Given the description of an element on the screen output the (x, y) to click on. 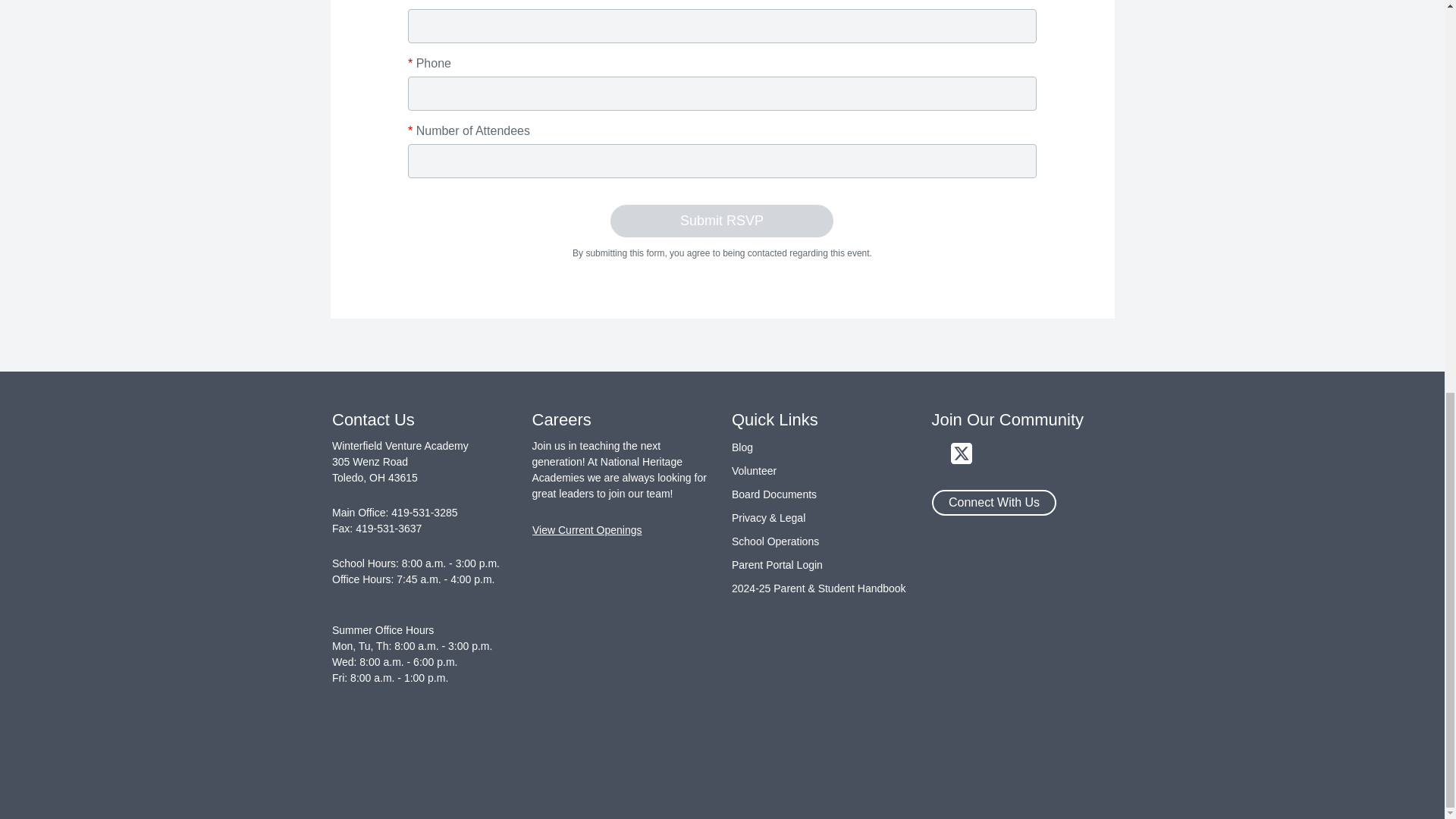
Submit RSVP (721, 220)
